Given the description of an element on the screen output the (x, y) to click on. 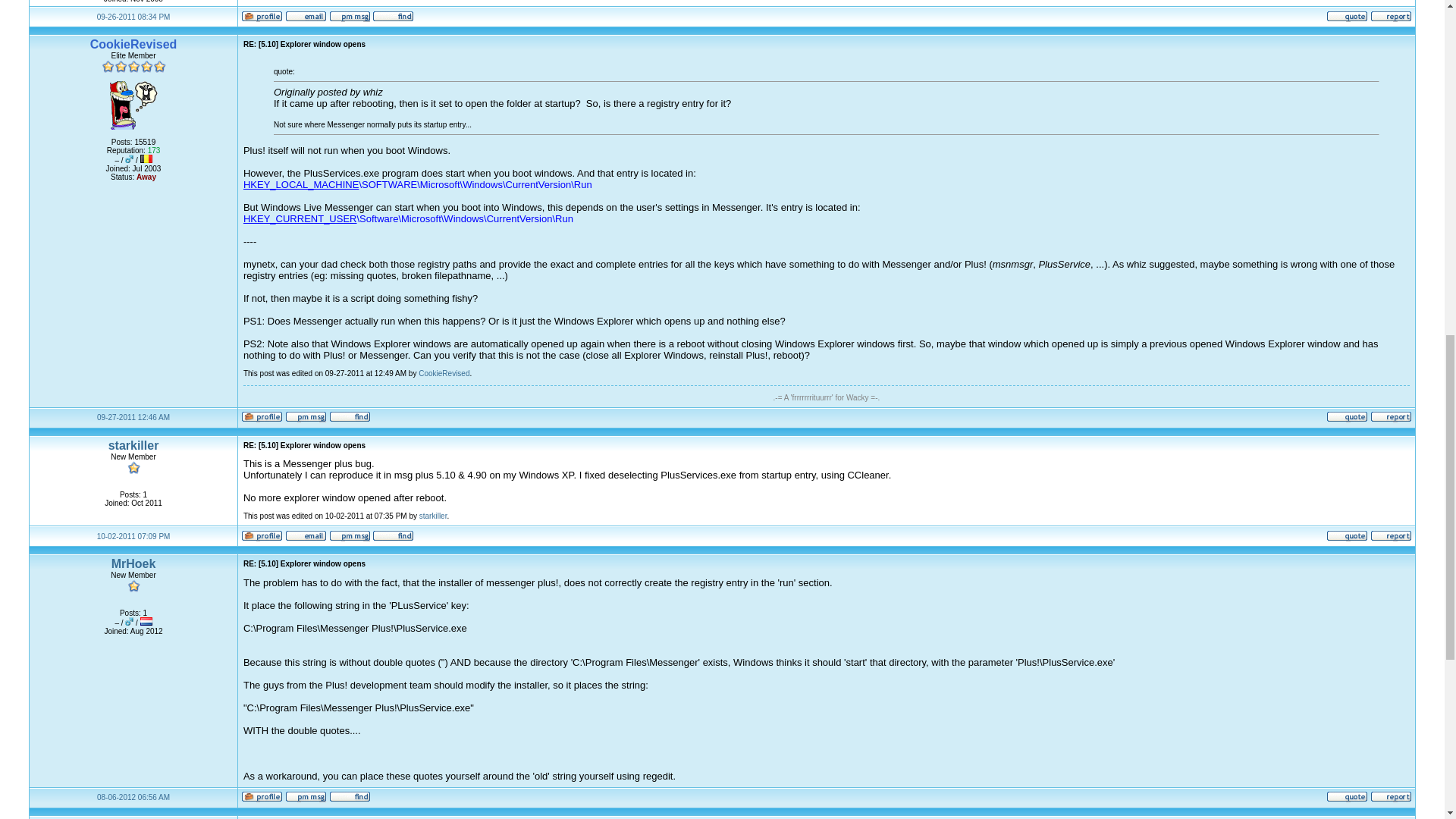
Belgium (145, 158)
Report this post to the forum Moderators (1391, 538)
Poster's local time: 07:09 PM (133, 536)
Report this post to the forum Moderators (1391, 419)
Poster's local time: 09:34 PM (133, 17)
Poster's local time: 02:46 AM (133, 417)
Report this post to the forum Moderators (1391, 19)
